Given the description of an element on the screen output the (x, y) to click on. 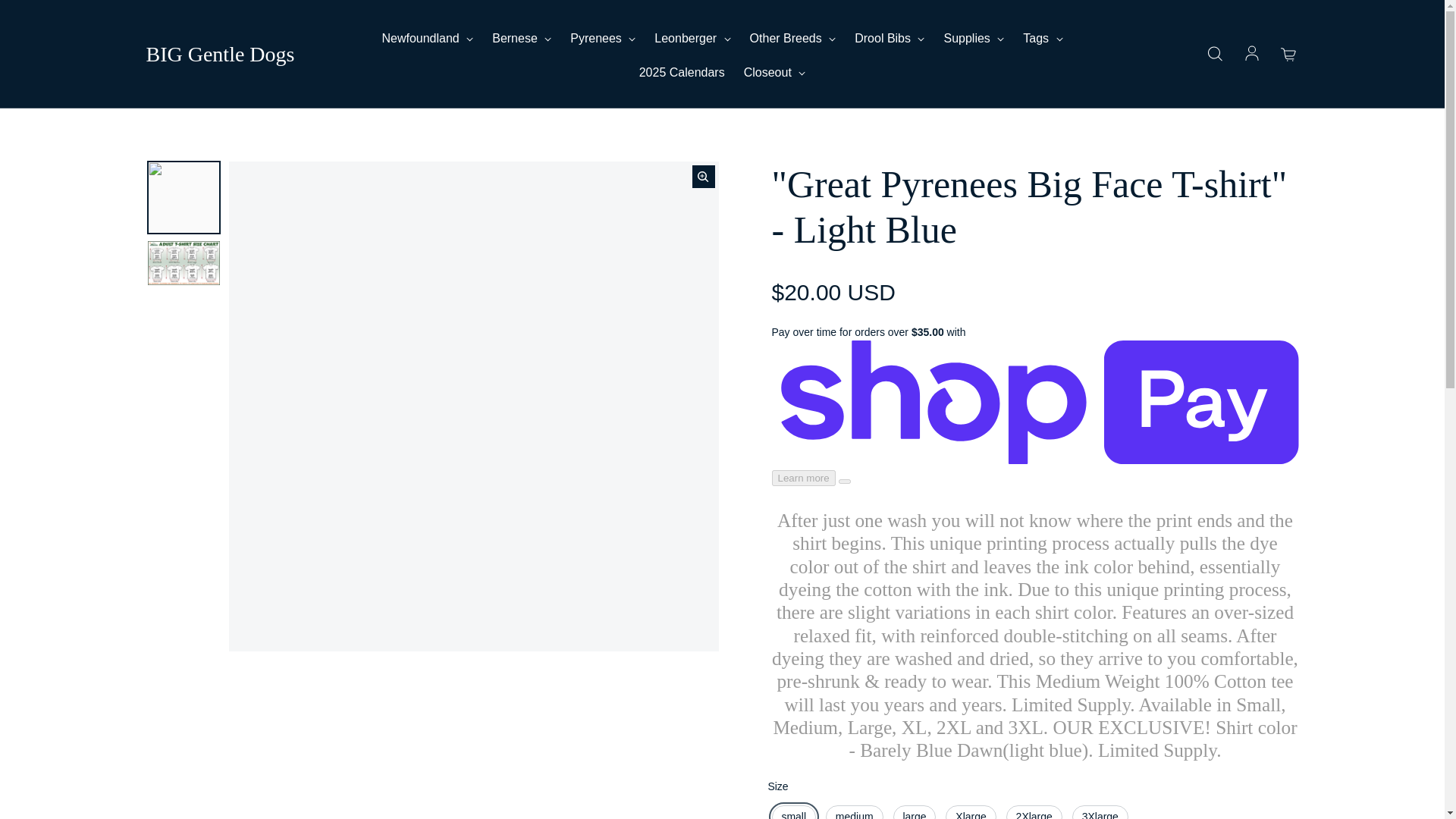
Log in (1251, 54)
Bernese (521, 38)
Closeout (775, 72)
Other Breeds (792, 38)
BIG Gentle Dogs (219, 54)
Leonberger (691, 38)
